Given the description of an element on the screen output the (x, y) to click on. 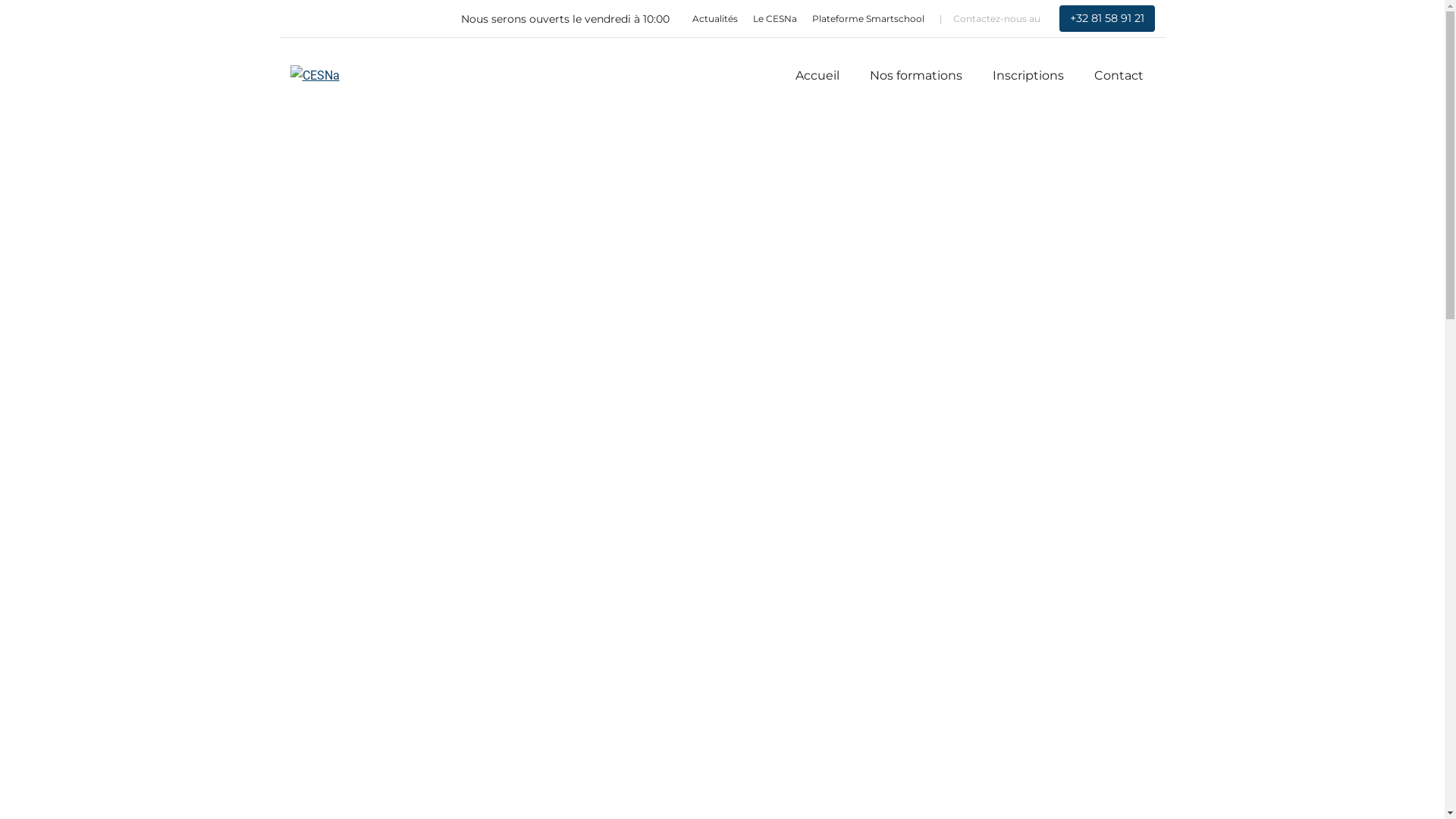
Accueil Element type: text (816, 75)
Plateforme Smartschool Element type: text (867, 18)
Contact Element type: text (1117, 75)
Le CESNa Element type: text (774, 18)
Nos formations Element type: text (915, 75)
Inscriptions Element type: text (1027, 75)
+32 81 58 91 21 Element type: text (1106, 18)
